Given the description of an element on the screen output the (x, y) to click on. 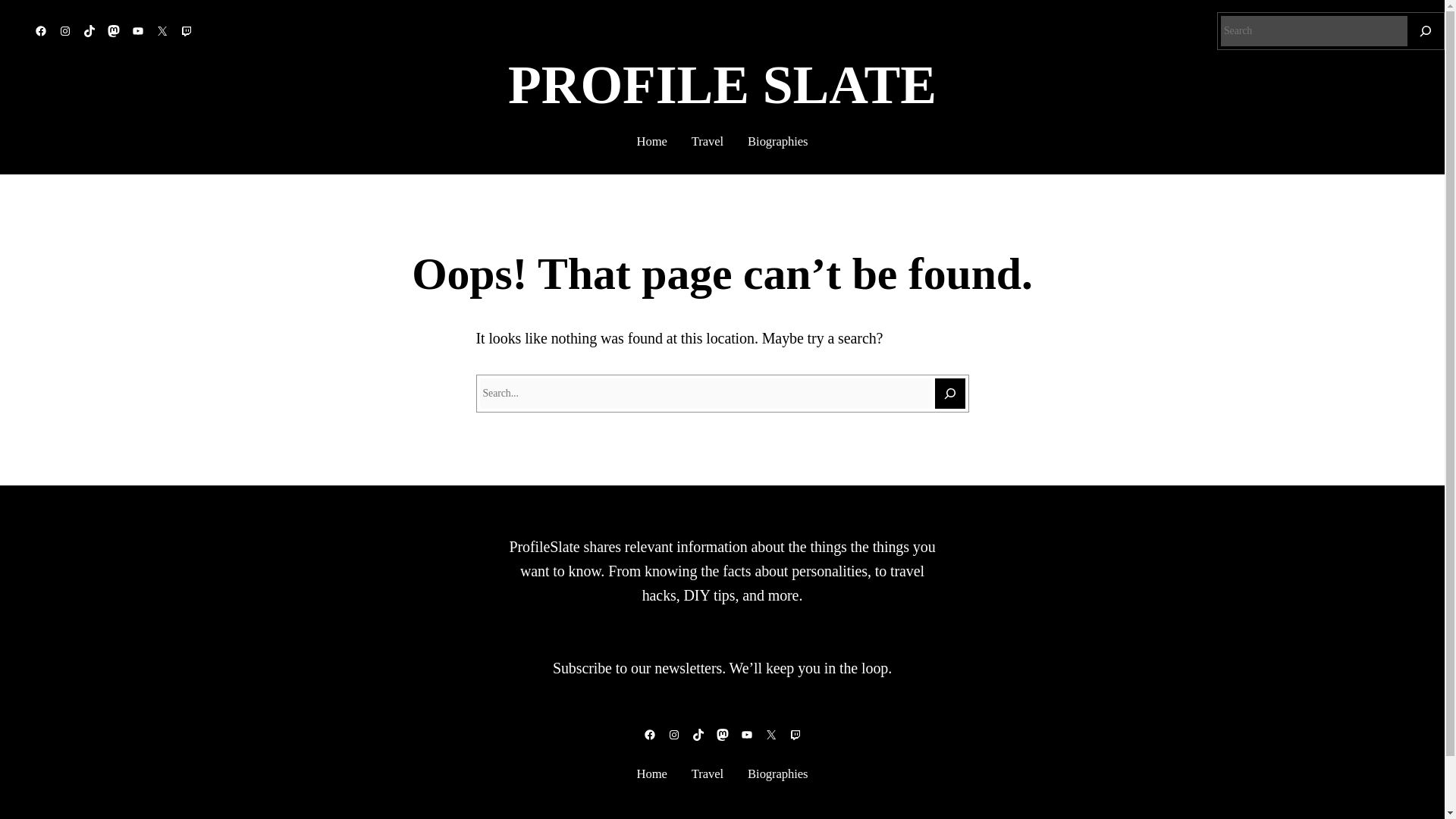
Instagram (65, 30)
Home (651, 140)
PROFILE SLATE (722, 84)
Twitch (186, 30)
Facebook (649, 734)
TikTok (697, 734)
Facebook (40, 30)
Twitch (794, 734)
Biographies (778, 140)
X (770, 734)
Mastodon (113, 30)
Travel (707, 140)
Mastodon (722, 734)
Travel (707, 773)
Instagram (672, 734)
